Given the description of an element on the screen output the (x, y) to click on. 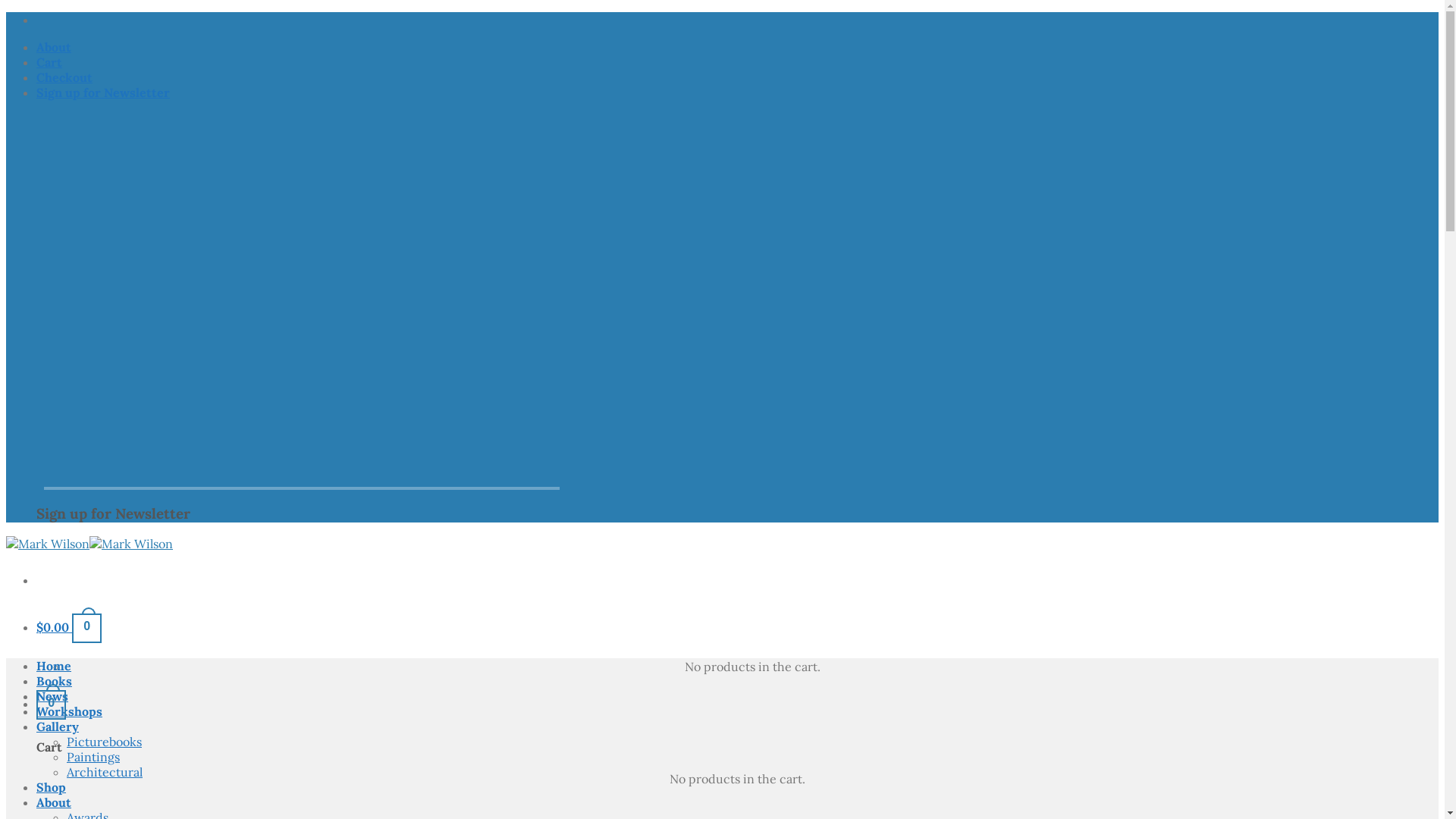
Shop Element type: text (50, 786)
$0.00 0 Element type: text (68, 626)
Workshops Element type: text (69, 710)
Checkout Element type: text (64, 76)
About Element type: text (53, 46)
Sign up for Newsletter Element type: text (102, 92)
Skip to content Element type: text (5, 11)
Cart Element type: text (49, 61)
Home Element type: text (53, 665)
Gallery Element type: text (57, 726)
News Element type: text (52, 695)
Picturebooks Element type: text (103, 741)
0 Element type: text (50, 703)
Paintings Element type: text (92, 756)
About Element type: text (53, 801)
Books Element type: text (54, 680)
Architectural Element type: text (104, 771)
